Given the description of an element on the screen output the (x, y) to click on. 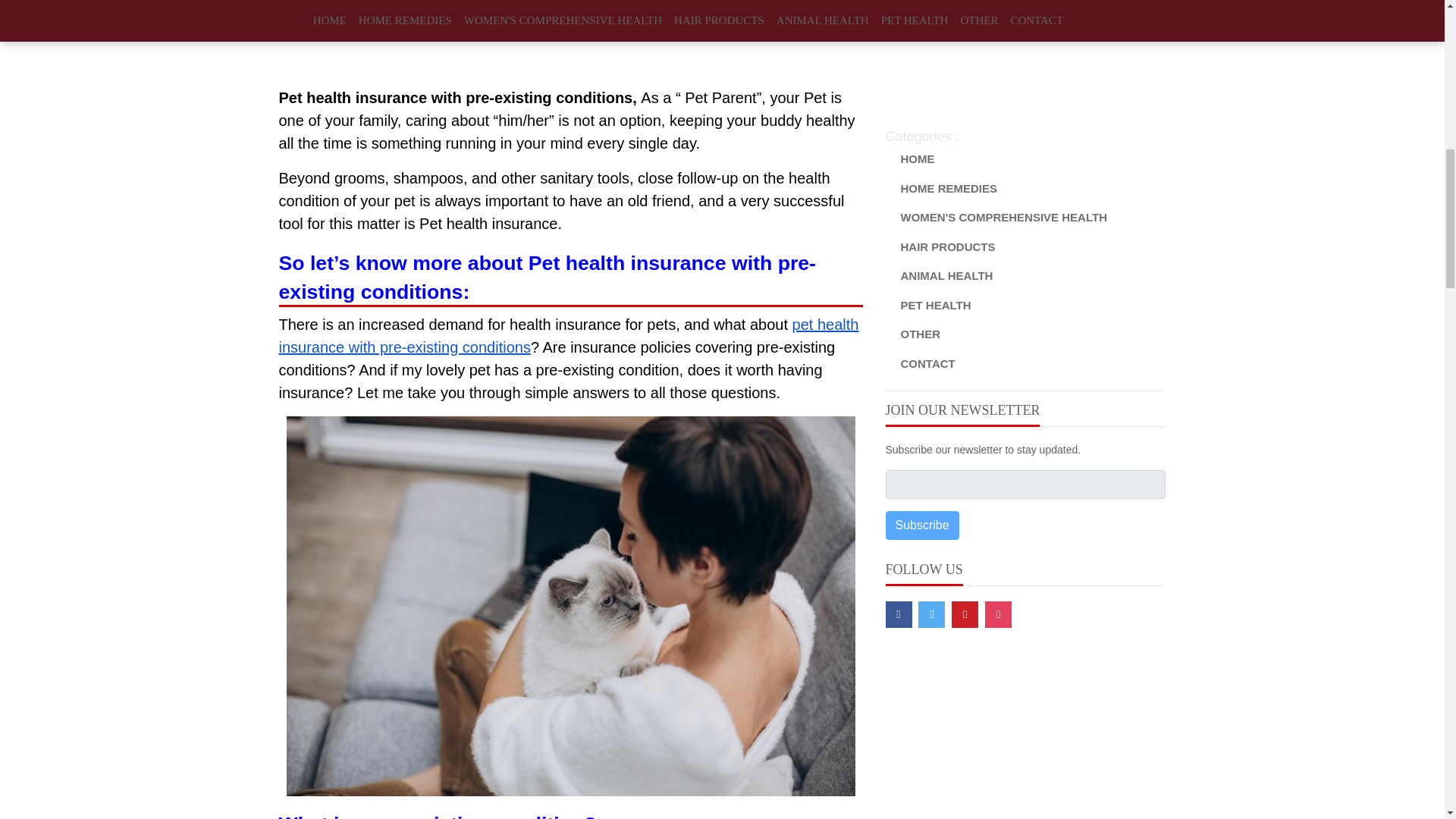
Subscribe (922, 525)
Advertisement (1025, 53)
Advertisement (571, 43)
pet health insurance with pre-existing conditions (569, 336)
